Given the description of an element on the screen output the (x, y) to click on. 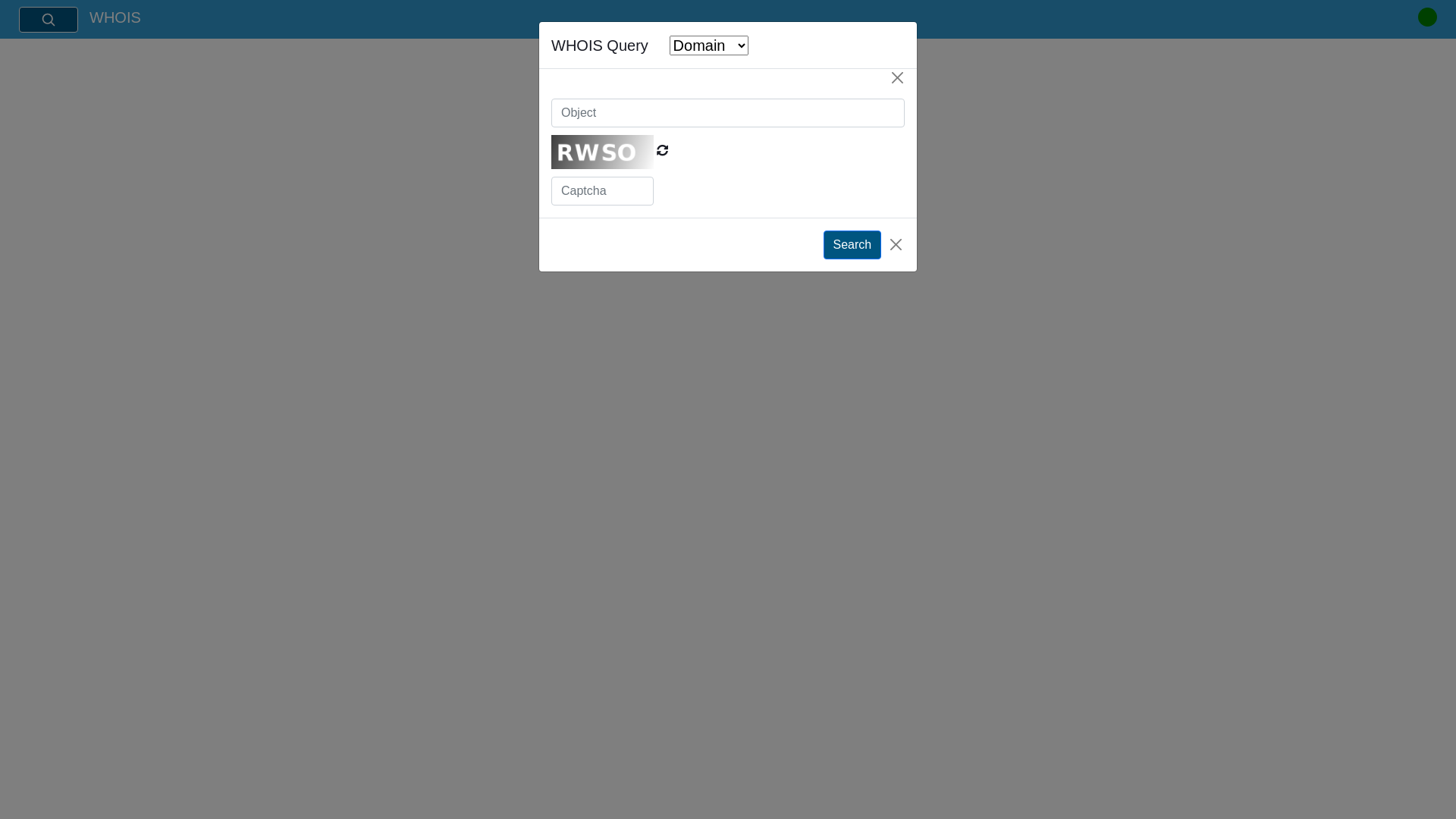
Search Element type: text (48, 19)
